Given the description of an element on the screen output the (x, y) to click on. 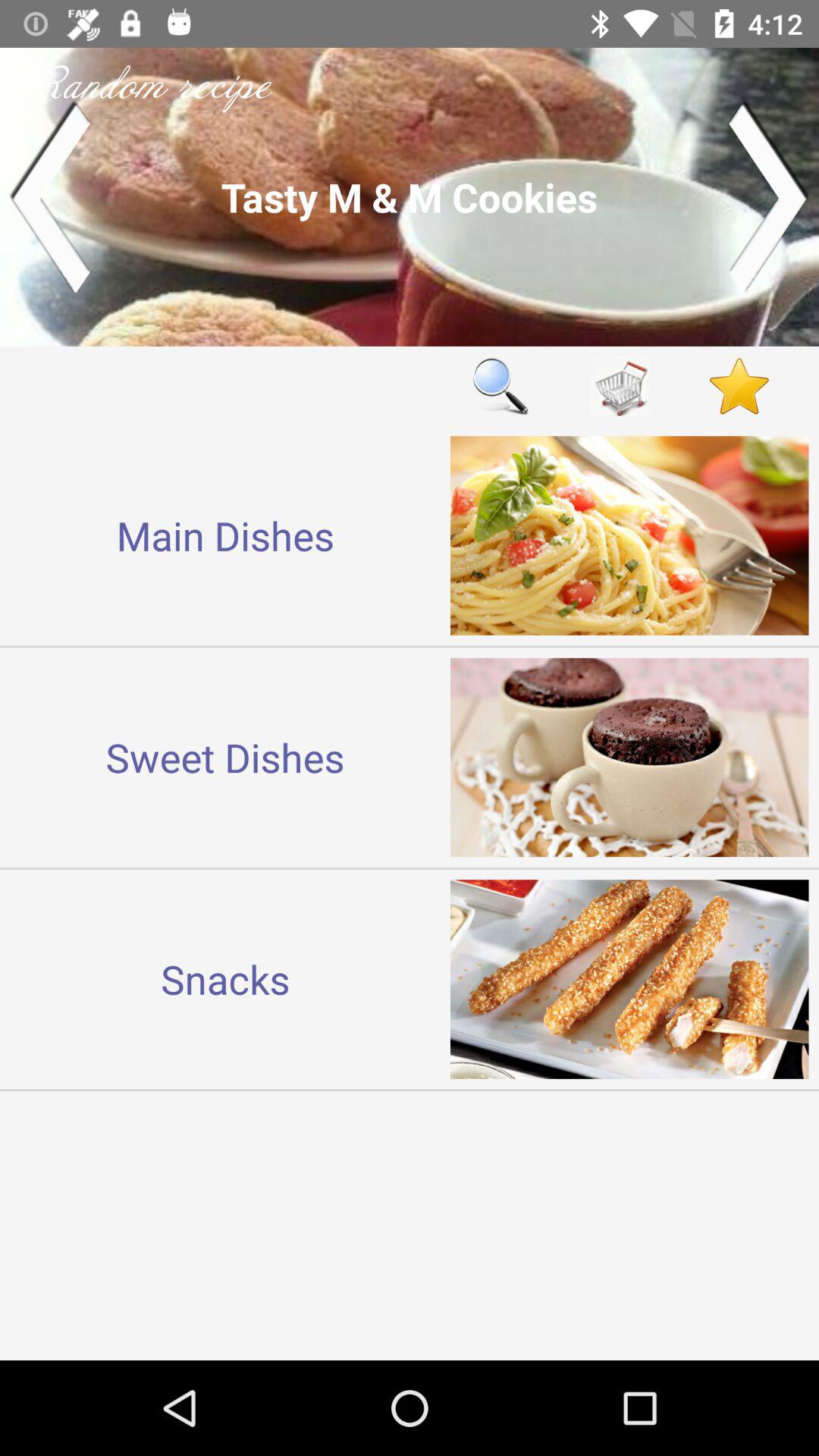
tap sweet dishes item (225, 756)
